Given the description of an element on the screen output the (x, y) to click on. 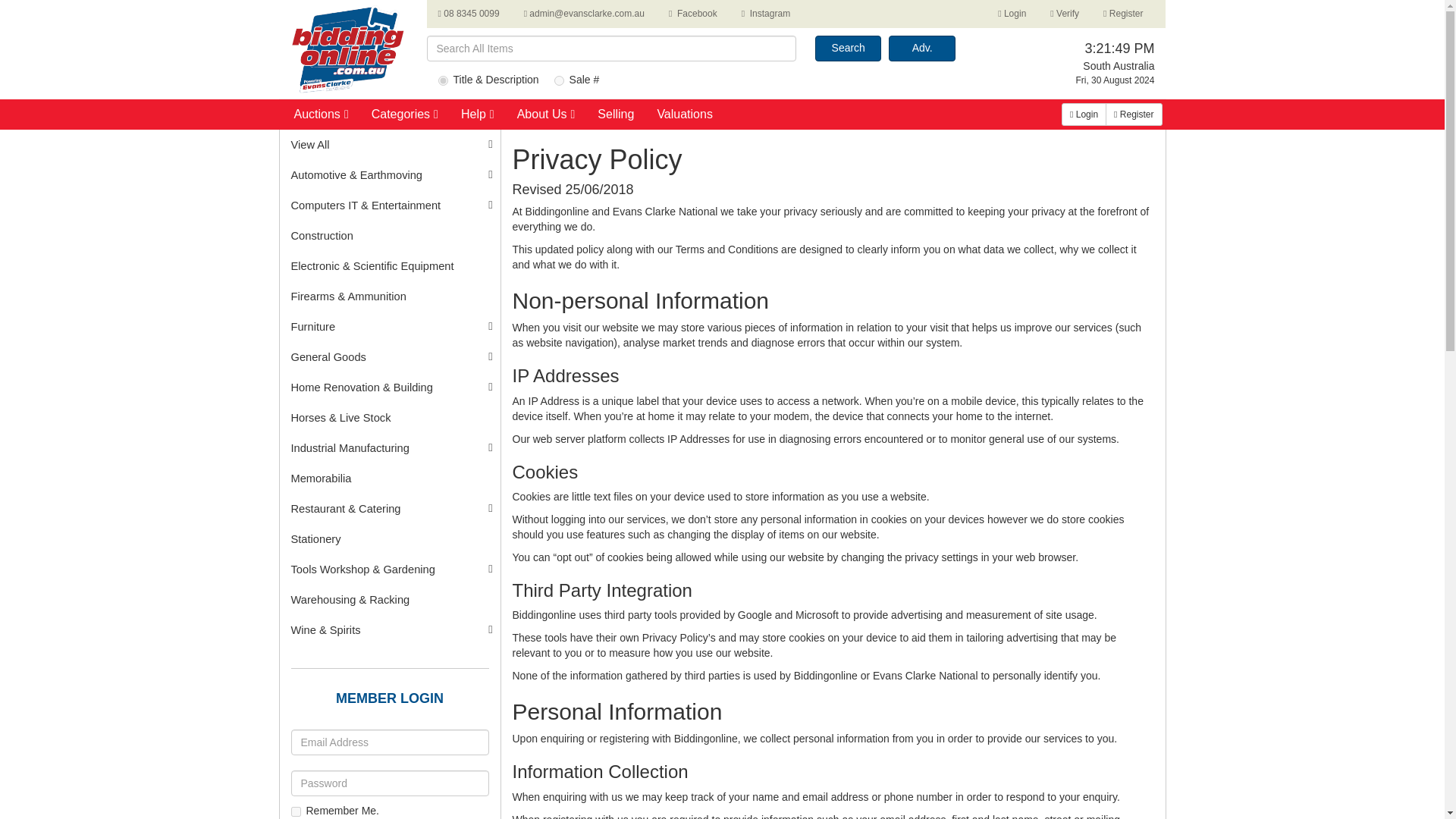
Categories (404, 118)
 Login (1011, 13)
Adv. (921, 48)
  Instagram (766, 13)
 08 8345 0099 (468, 13)
Search (847, 48)
3 (559, 80)
Auctions (321, 118)
 Verify (1064, 13)
Search (847, 48)
